Given the description of an element on the screen output the (x, y) to click on. 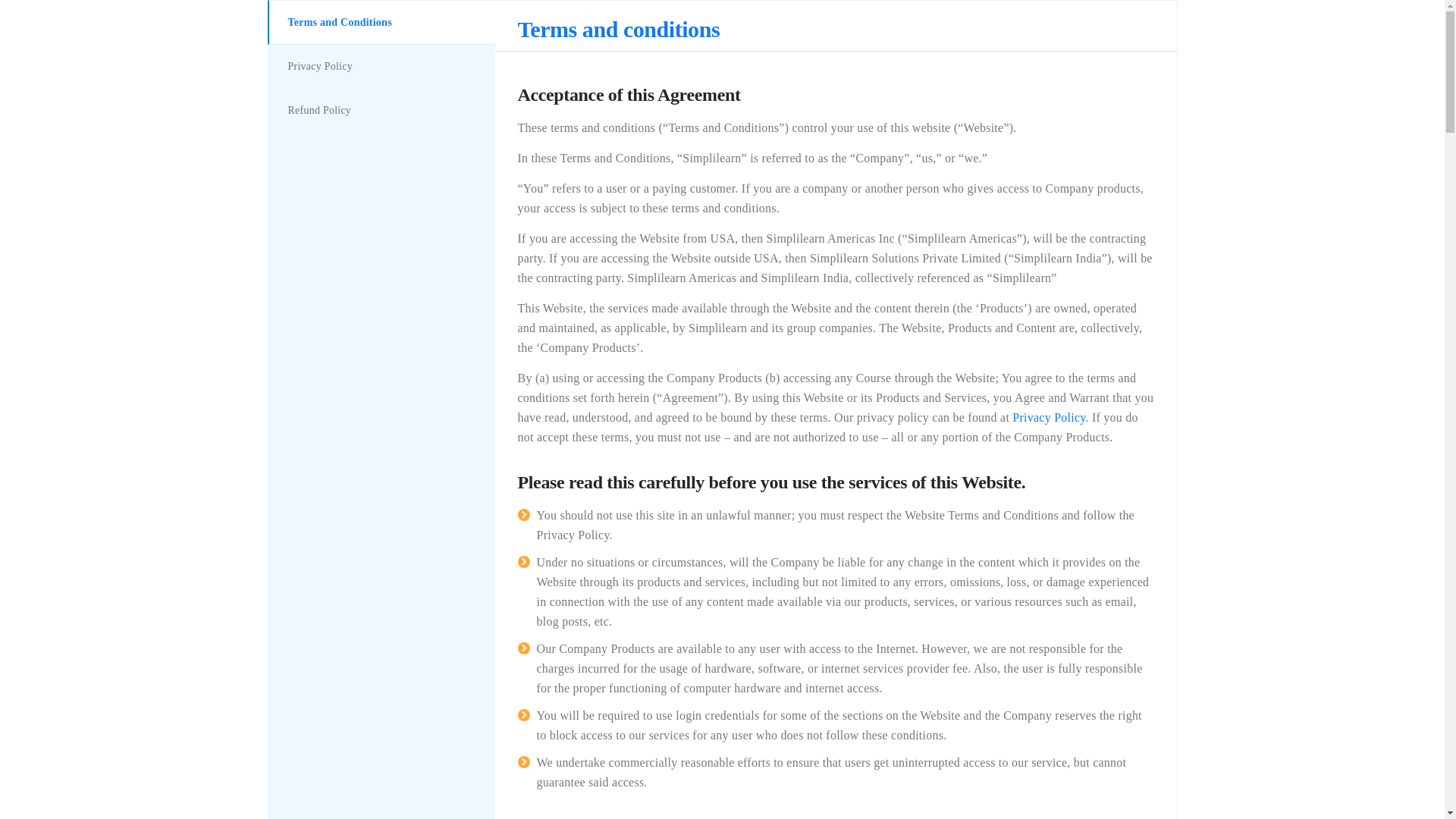
Privacy Policy (1047, 417)
Privacy Policy (380, 66)
Refund Policy (380, 109)
Terms and Conditions (380, 22)
